Given the description of an element on the screen output the (x, y) to click on. 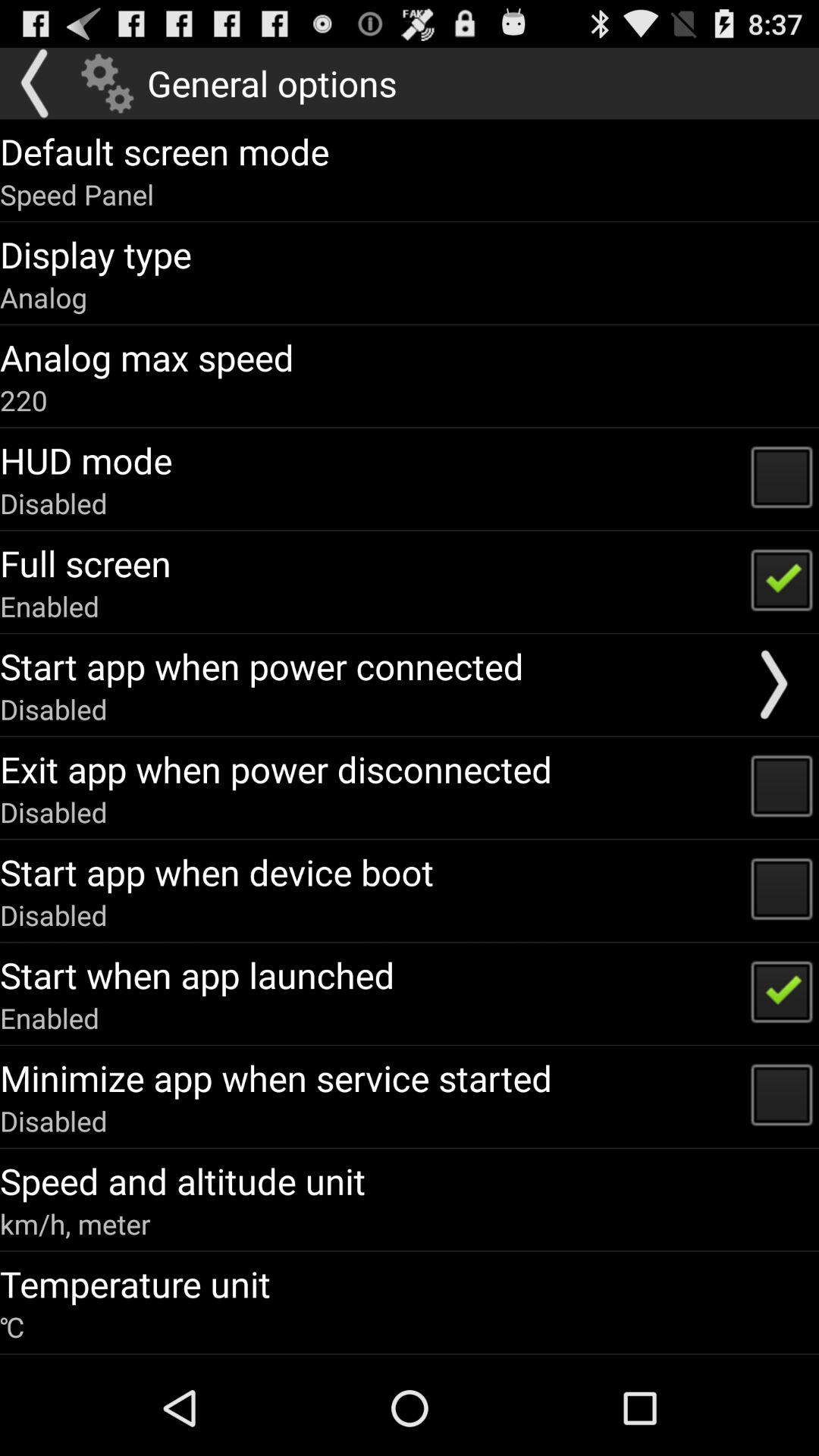
open speed and altitude (182, 1180)
